Given the description of an element on the screen output the (x, y) to click on. 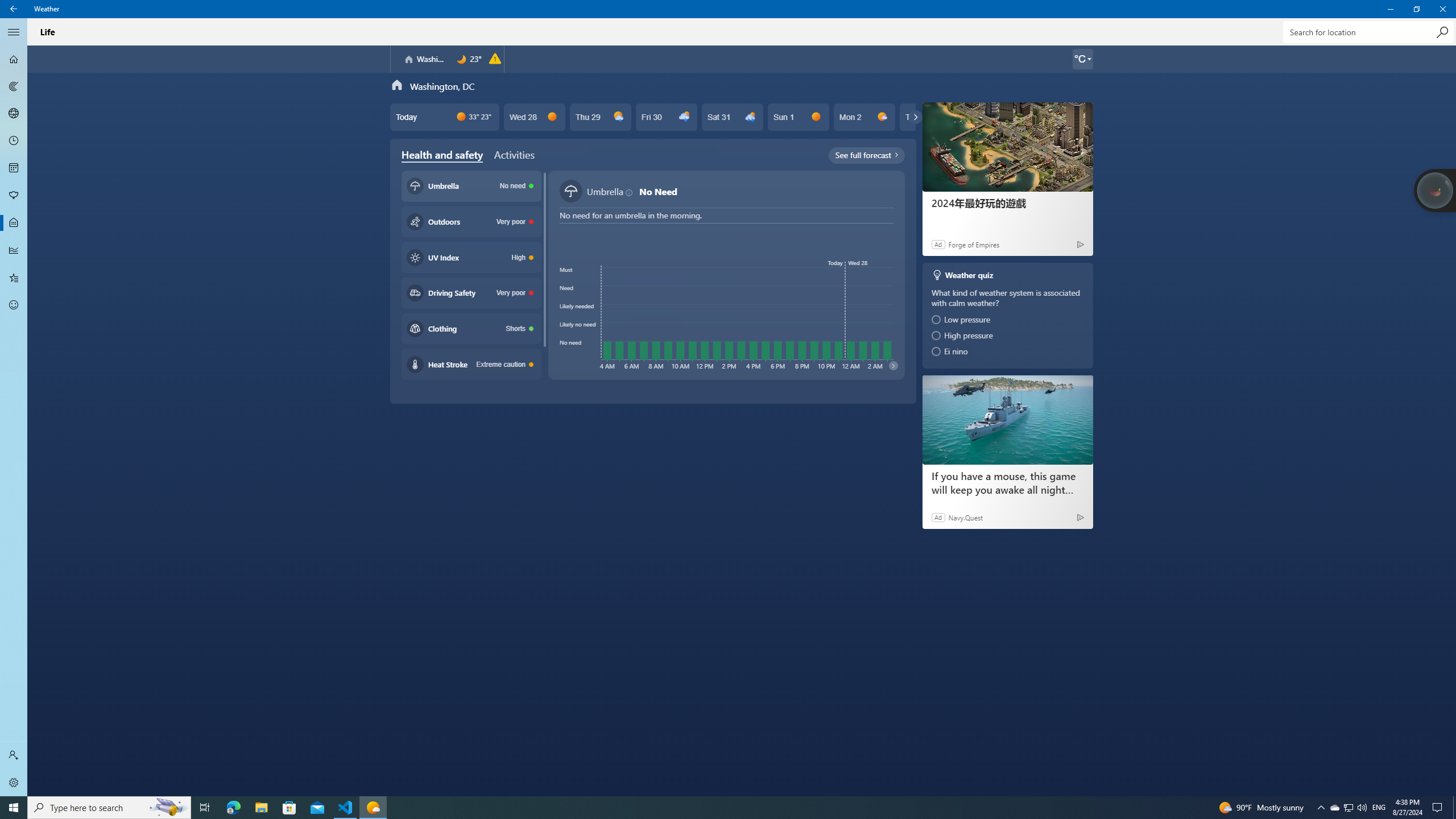
3D Maps - Not Selected (13, 113)
